Given the description of an element on the screen output the (x, y) to click on. 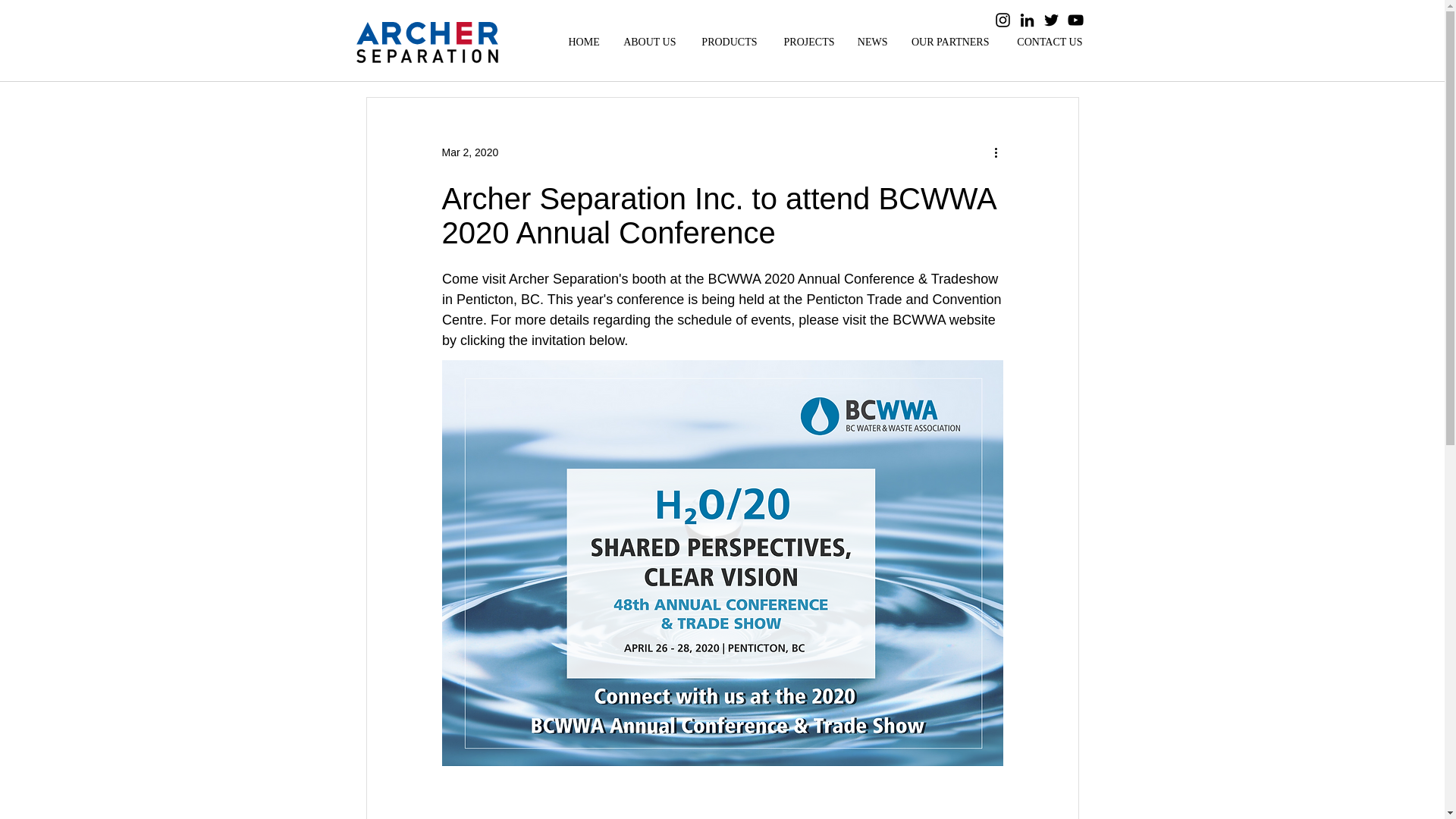
PROJECTS (806, 41)
OUR PARTNERS (950, 41)
PRODUCTS (727, 41)
ABOUT US (649, 41)
Mar 2, 2020 (469, 151)
NEWS (872, 41)
CONTACT US (1047, 41)
HOME (583, 41)
